Given the description of an element on the screen output the (x, y) to click on. 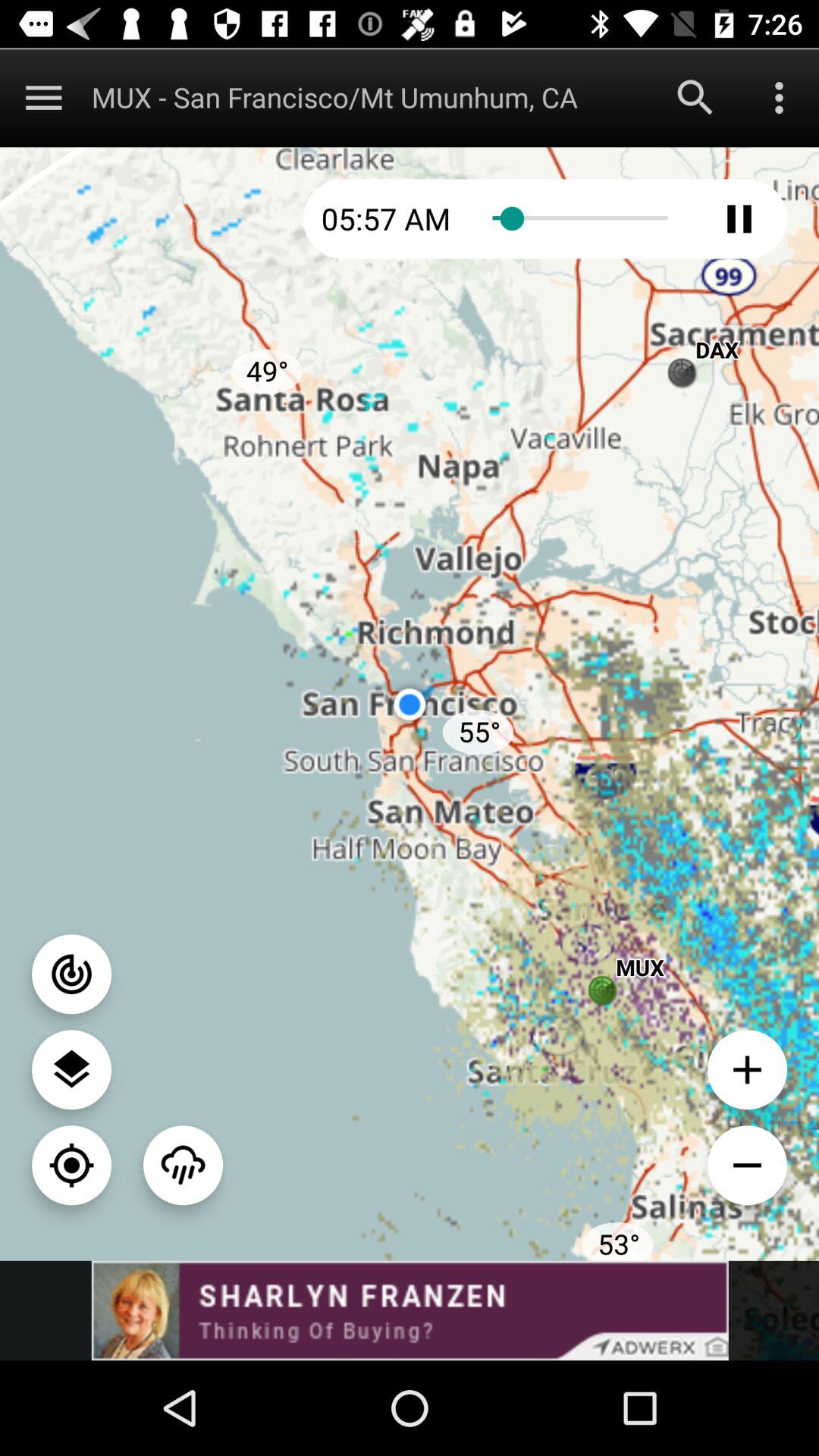
map button (71, 1165)
